Given the description of an element on the screen output the (x, y) to click on. 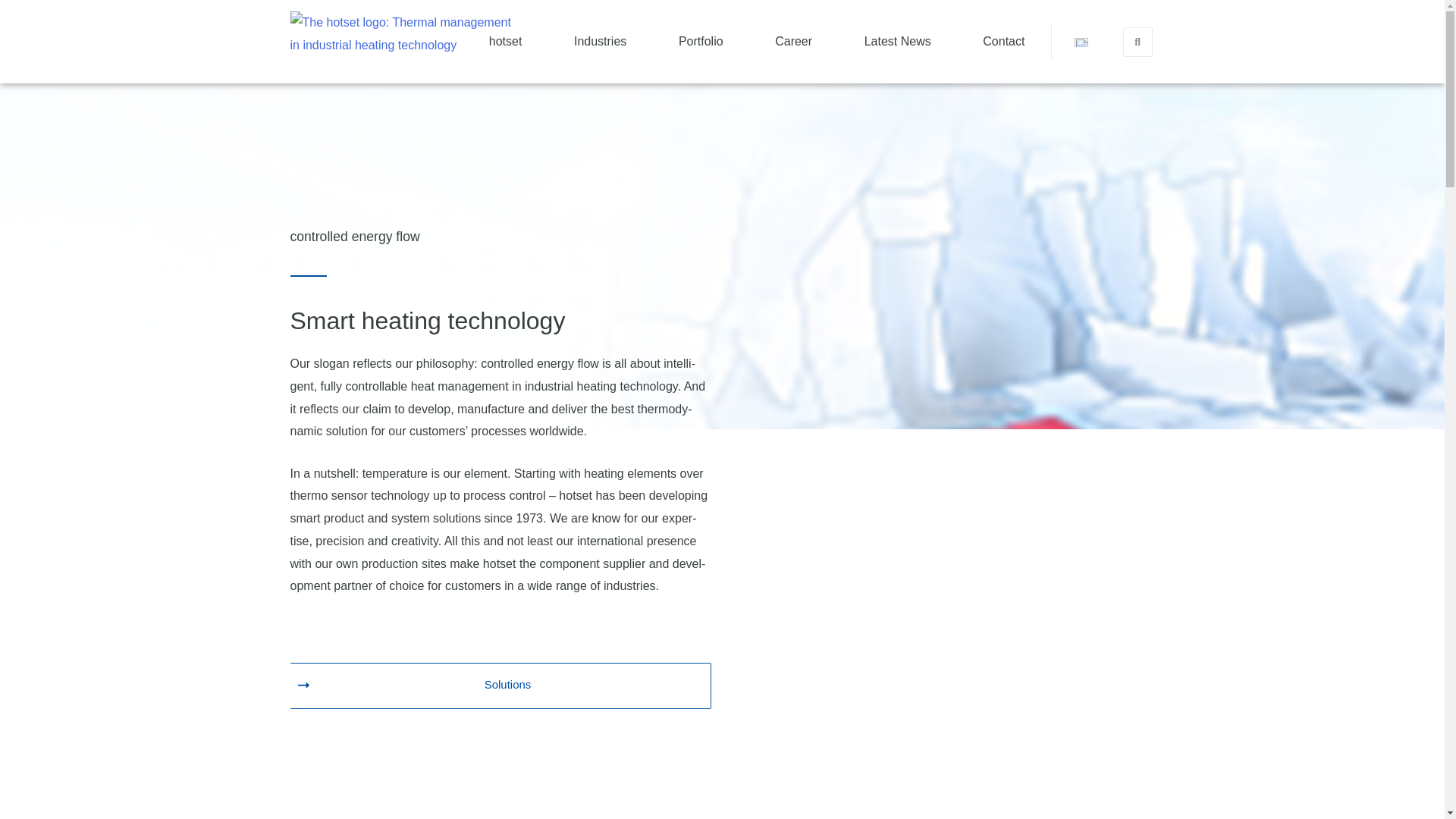
Industries (600, 41)
Portfolio (700, 41)
hotset (505, 41)
